Given the description of an element on the screen output the (x, y) to click on. 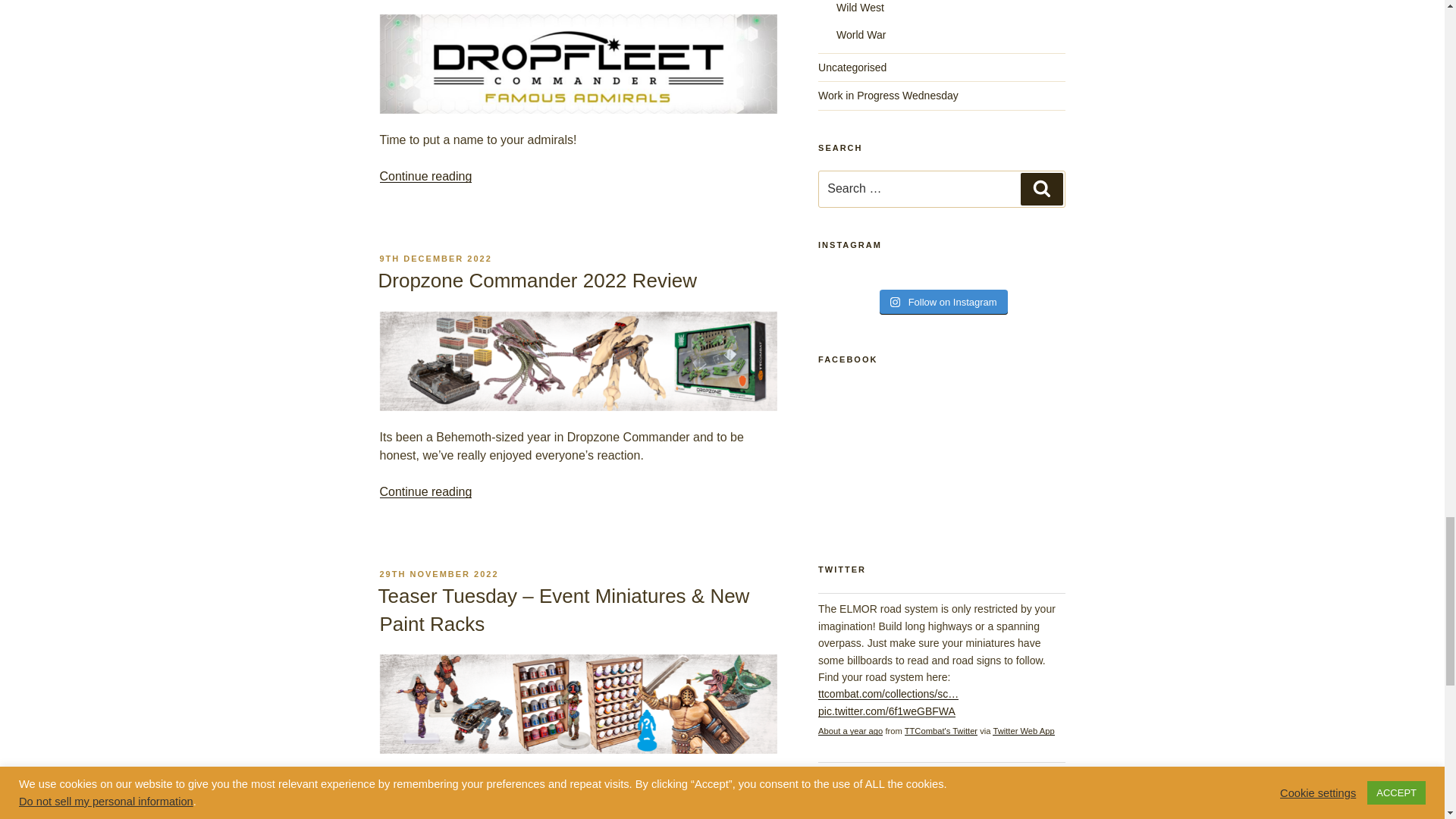
Likebox Iframe (941, 454)
9TH DECEMBER 2022 (435, 257)
29TH NOVEMBER 2022 (437, 573)
TTCombat (940, 730)
Dropzone Commander 2022 Review (537, 280)
